Given the description of an element on the screen output the (x, y) to click on. 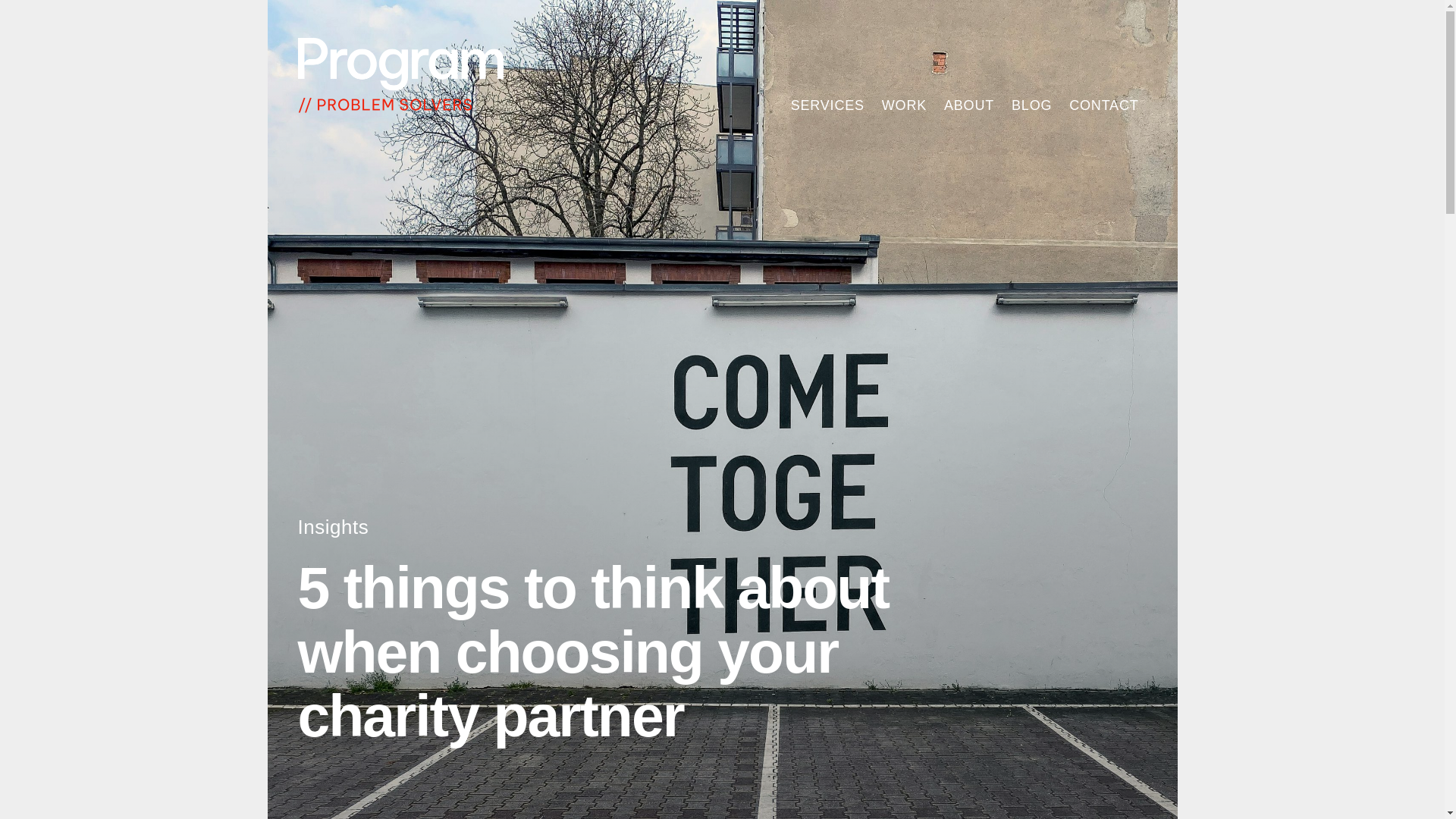
WORK (903, 45)
WORK (903, 104)
SERVICES (827, 104)
SERVICES (827, 45)
ABOUT (969, 45)
CONTACT (1104, 104)
ABOUT (969, 104)
CONTACT (1104, 45)
BLOG (1031, 45)
BLOG (1031, 104)
